Given the description of an element on the screen output the (x, y) to click on. 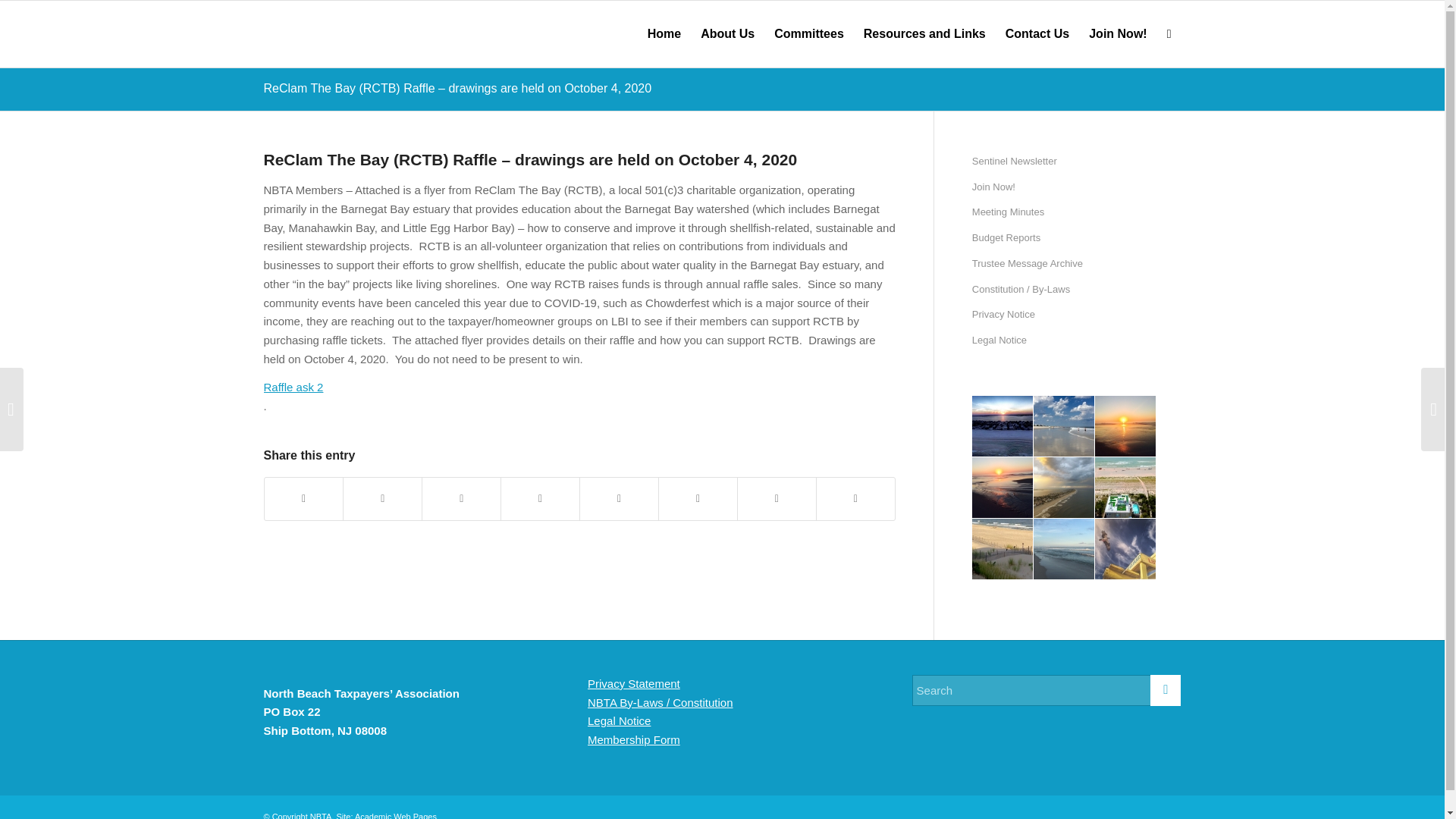
Trustee Message Archive (1076, 264)
Committees (808, 33)
Legal Notice (1076, 340)
About Us (727, 33)
Raffle ask 2 (293, 386)
Join Now! (1117, 33)
Resources and Links (924, 33)
Join Now! (1076, 187)
Sentinel Newsletter (1076, 162)
Budget Reports (1076, 238)
